Given the description of an element on the screen output the (x, y) to click on. 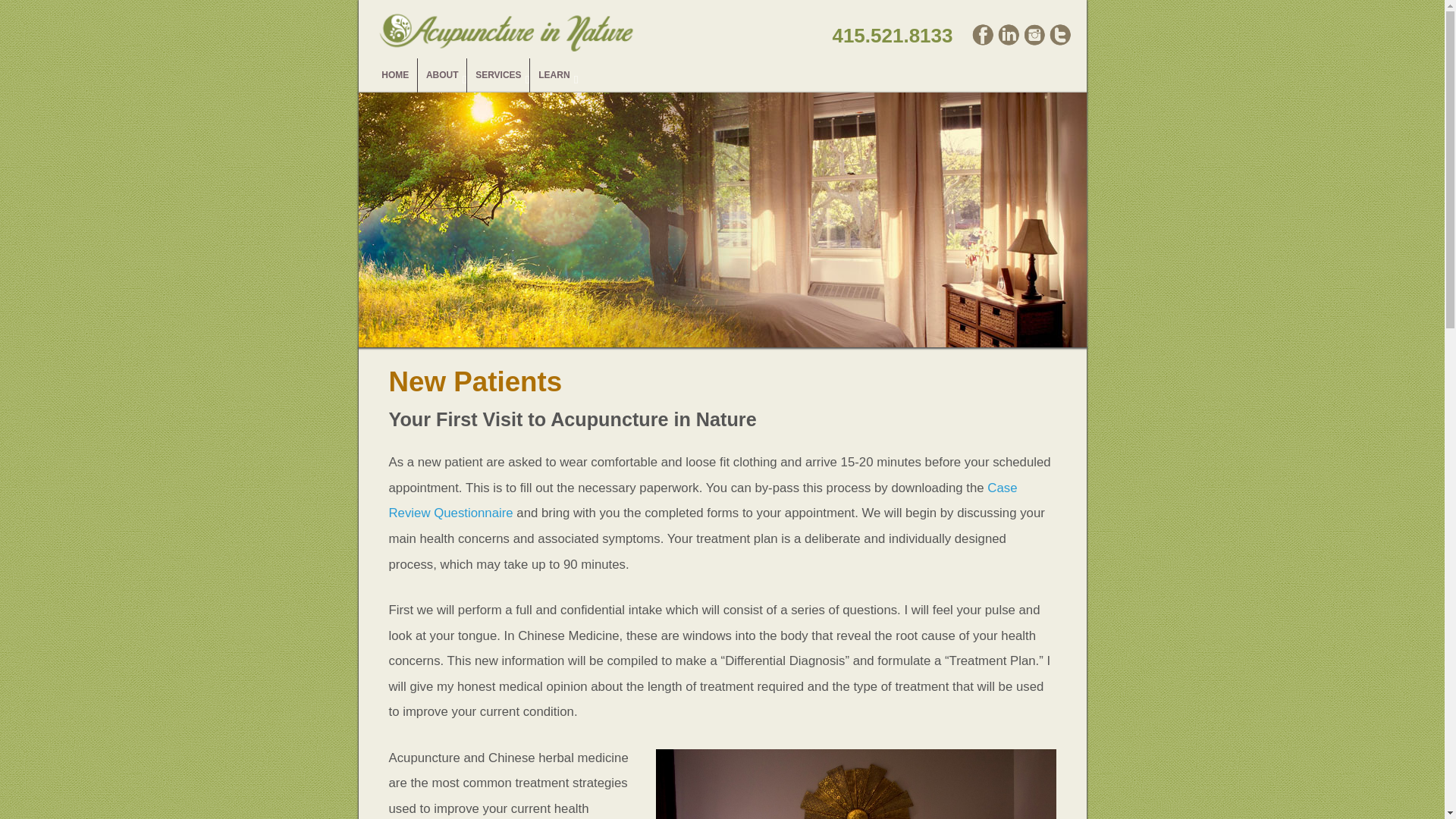
LEARN (553, 75)
SERVICES (497, 75)
Case Review Questionnaire (702, 500)
HOME (394, 75)
ABOUT (440, 75)
415.521.8133 (890, 35)
